Given the description of an element on the screen output the (x, y) to click on. 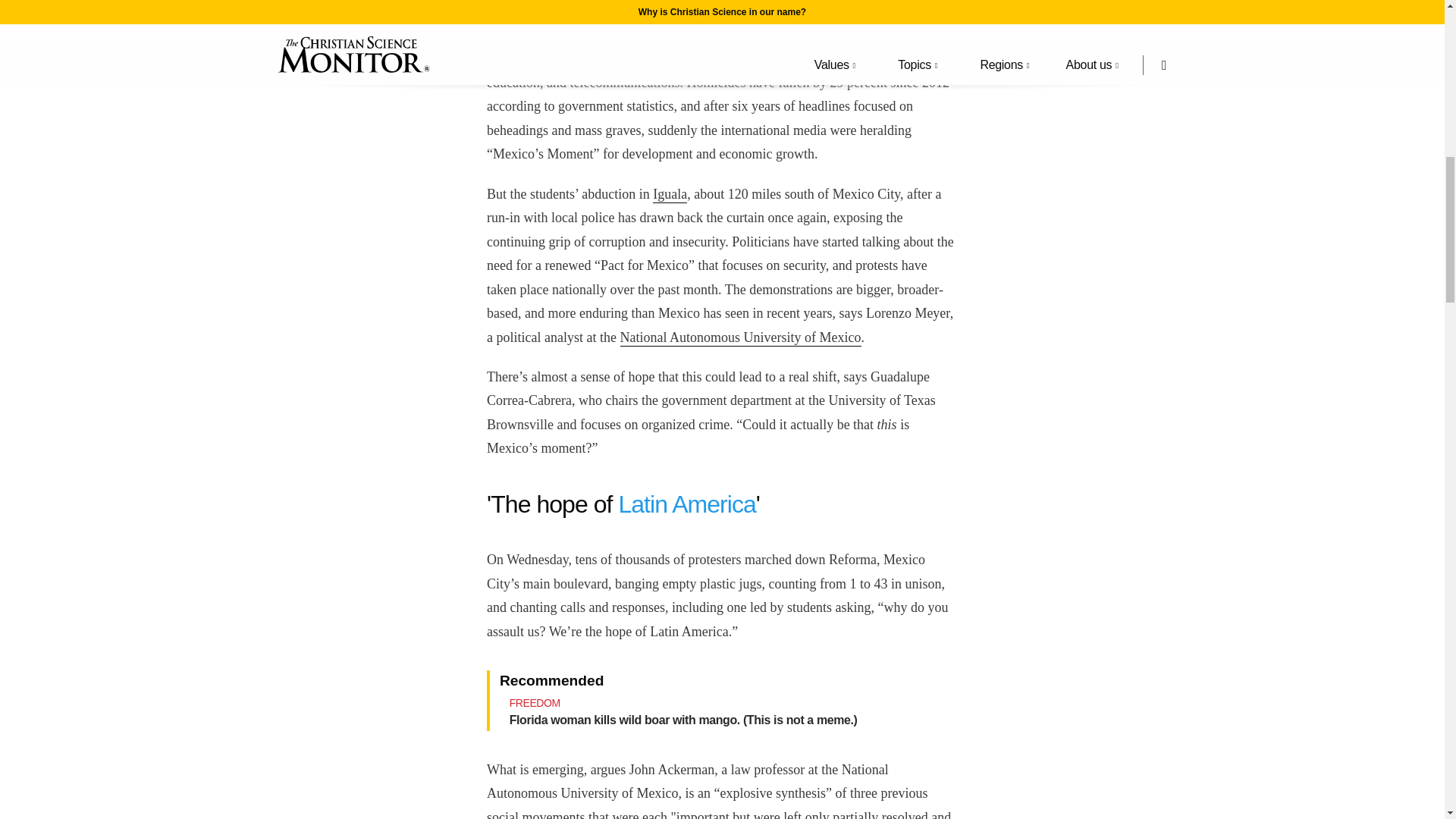
Title: National Autonomous University of Mexico (740, 338)
Title: Iguala (669, 194)
Title: Latin America (686, 503)
